Given the description of an element on the screen output the (x, y) to click on. 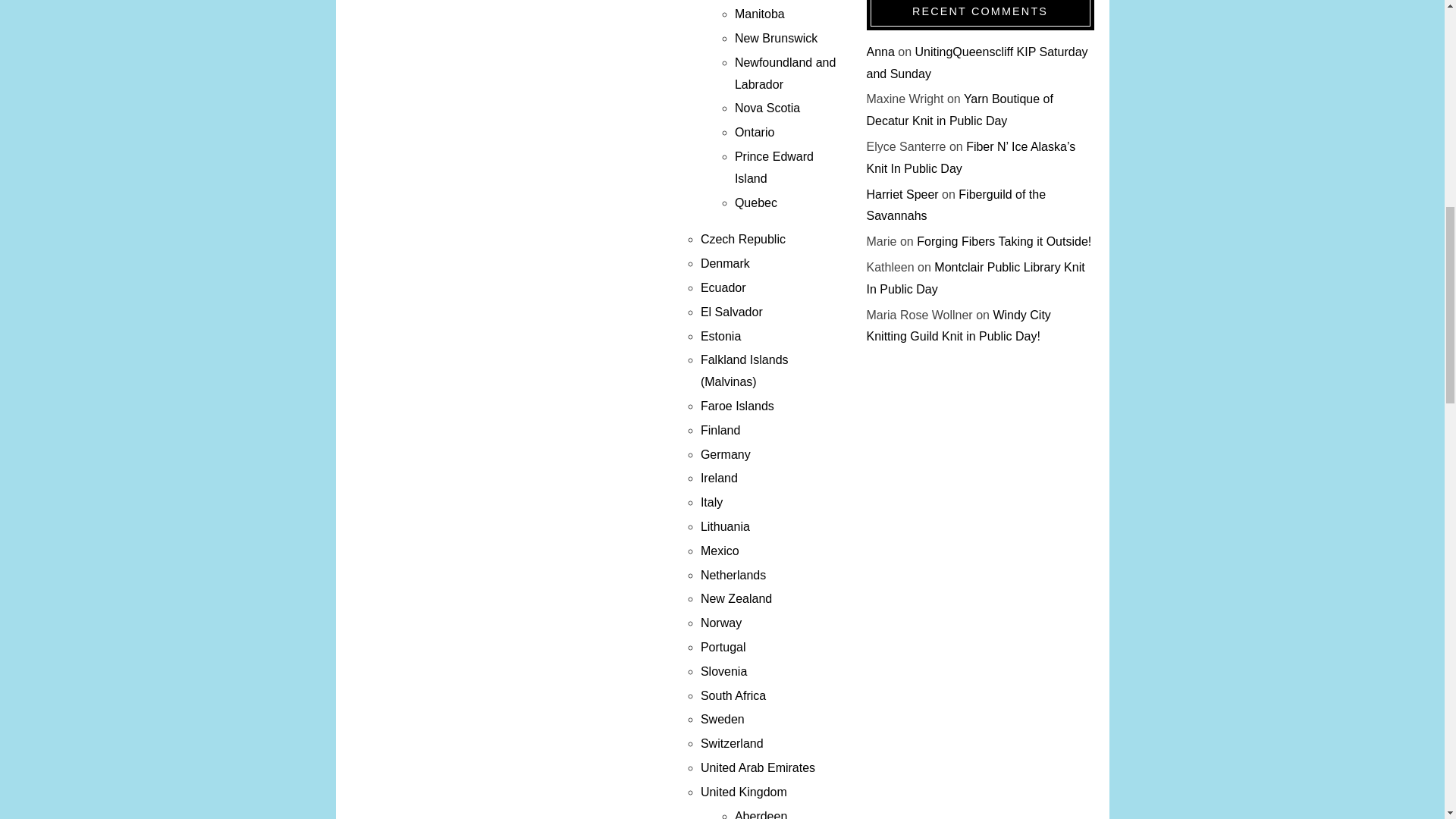
New Brunswick (775, 38)
Nova Scotia (767, 107)
Ontario (754, 132)
Manitoba (759, 13)
Newfoundland and Labrador (785, 73)
Quebec (756, 202)
Prince Edward Island (774, 167)
